Given the description of an element on the screen output the (x, y) to click on. 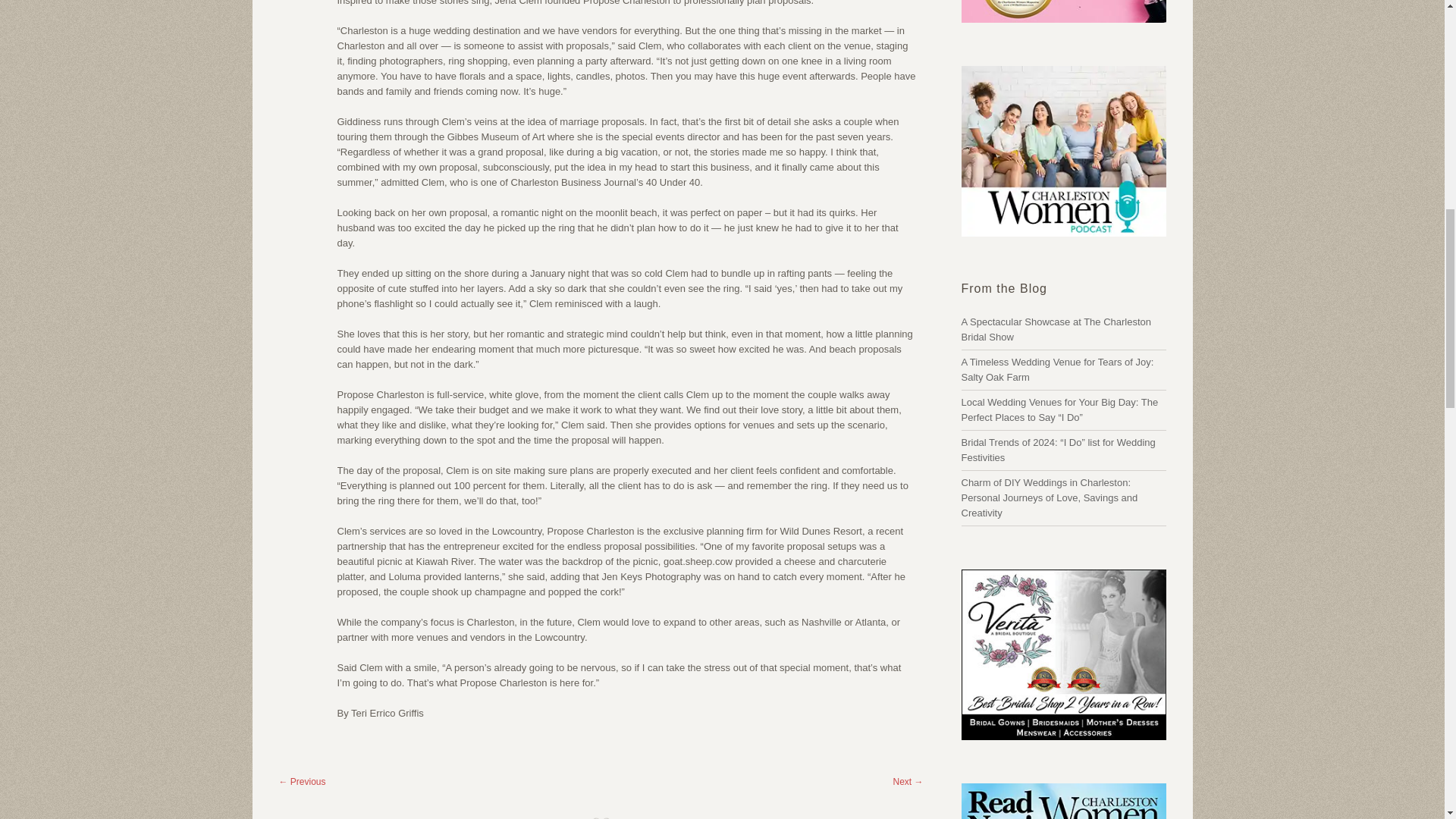
A Timeless Wedding Venue for Tears of Joy: Salty Oak Farm (1057, 369)
A Spectacular Showcase at The Charleston Bridal Show (1055, 329)
